Given the description of an element on the screen output the (x, y) to click on. 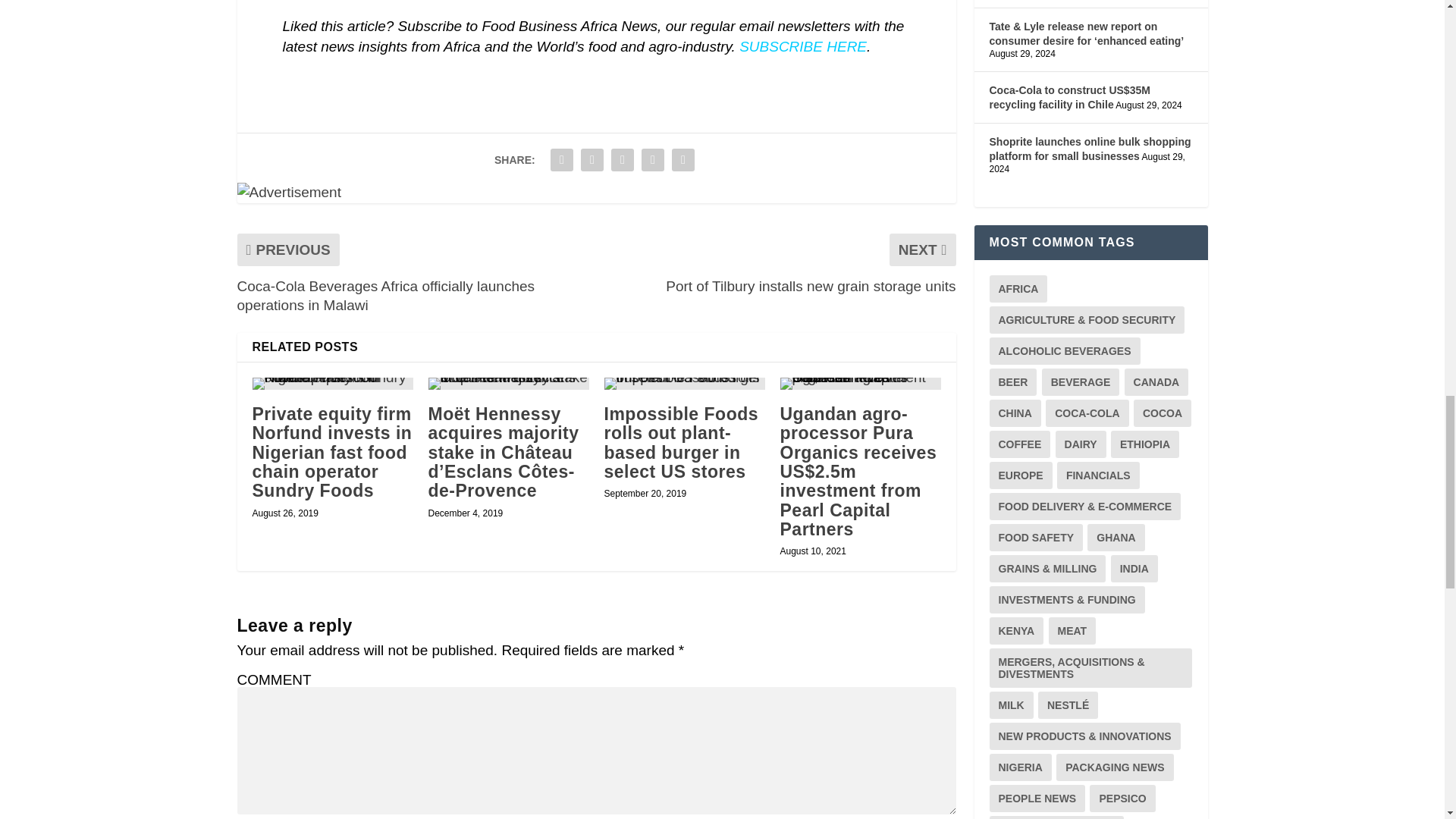
SUBSCRIBE HERE (802, 46)
